Given the description of an element on the screen output the (x, y) to click on. 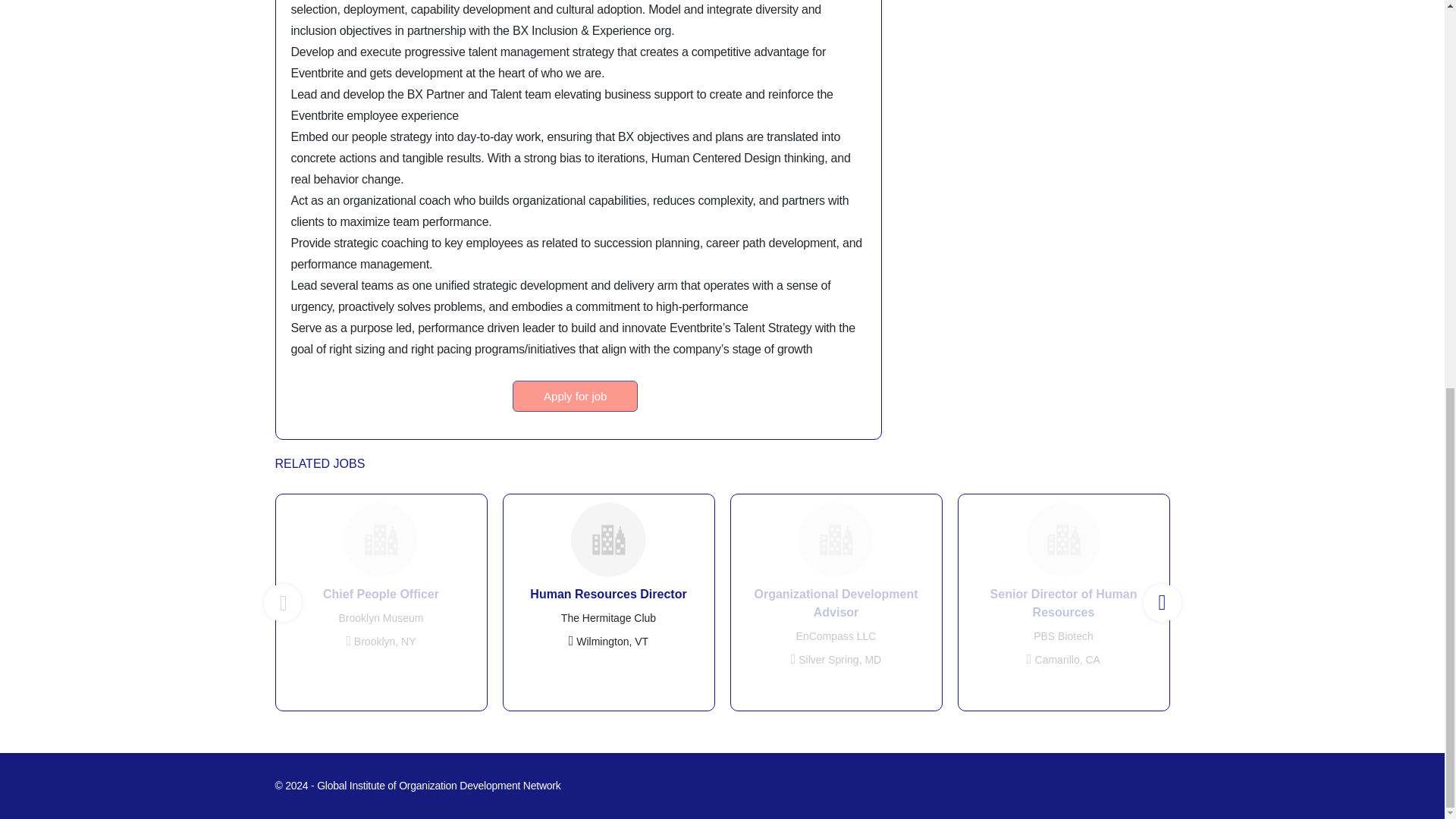
Apply for job (574, 395)
